Given the description of an element on the screen output the (x, y) to click on. 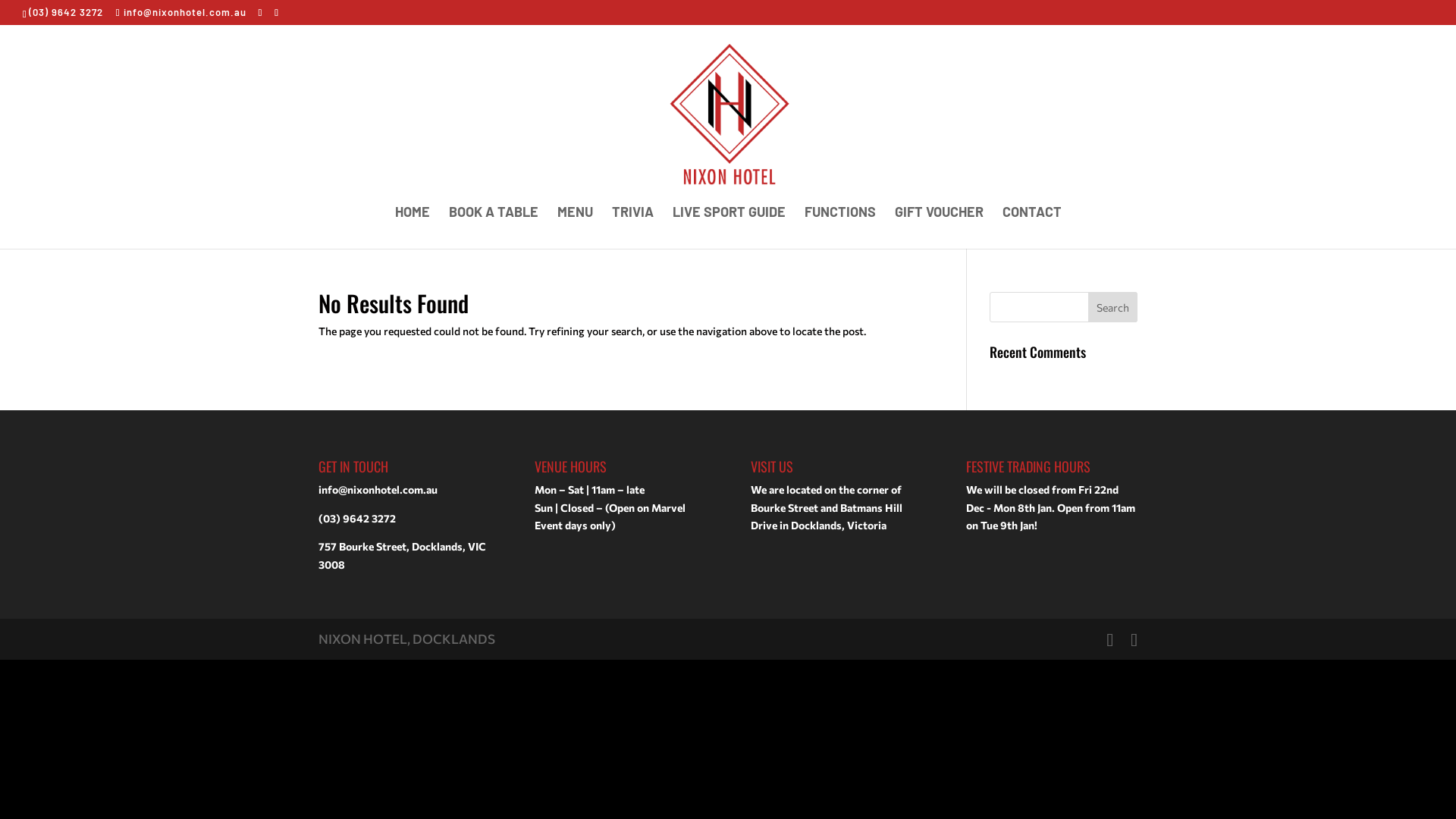
757 Bourke Street, Docklands, VIC 3008 Element type: text (402, 555)
LIVE SPORT GUIDE Element type: text (727, 227)
MENU Element type: text (574, 227)
GIFT VOUCHER Element type: text (938, 227)
BOOK A TABLE Element type: text (493, 227)
info@nixonhotel.com.au Element type: text (377, 489)
Search Element type: text (1112, 306)
(03) 9642 3272 Element type: text (356, 517)
FUNCTIONS Element type: text (839, 227)
(03) 9642 3272 Element type: text (65, 12)
CONTACT Element type: text (1031, 227)
TRIVIA Element type: text (631, 227)
HOME Element type: text (411, 227)
info@nixonhotel.com.au Element type: text (181, 12)
